Given the description of an element on the screen output the (x, y) to click on. 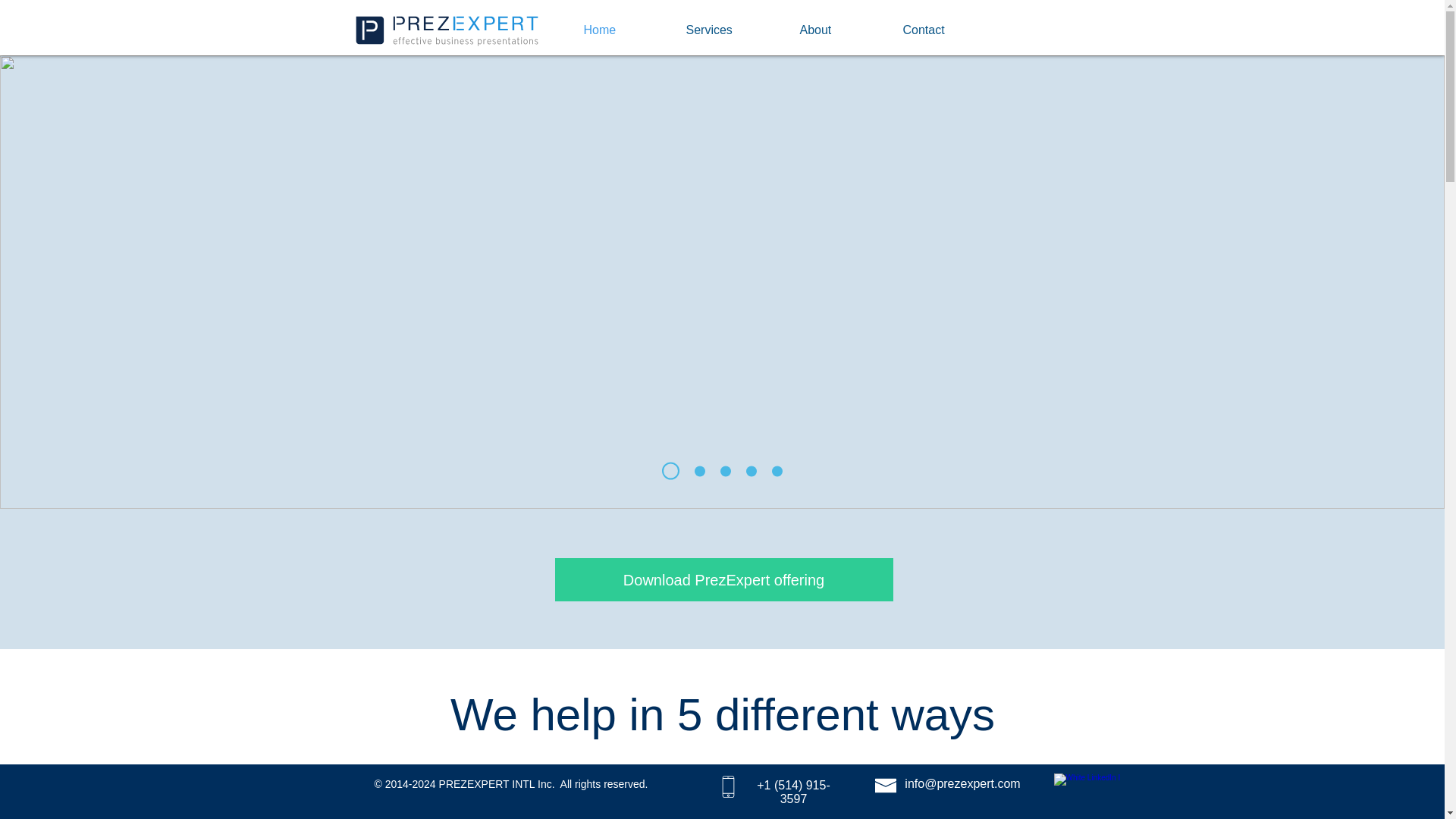
Download PrezExpert offering (723, 579)
Home (627, 29)
Contact (951, 29)
